Given the description of an element on the screen output the (x, y) to click on. 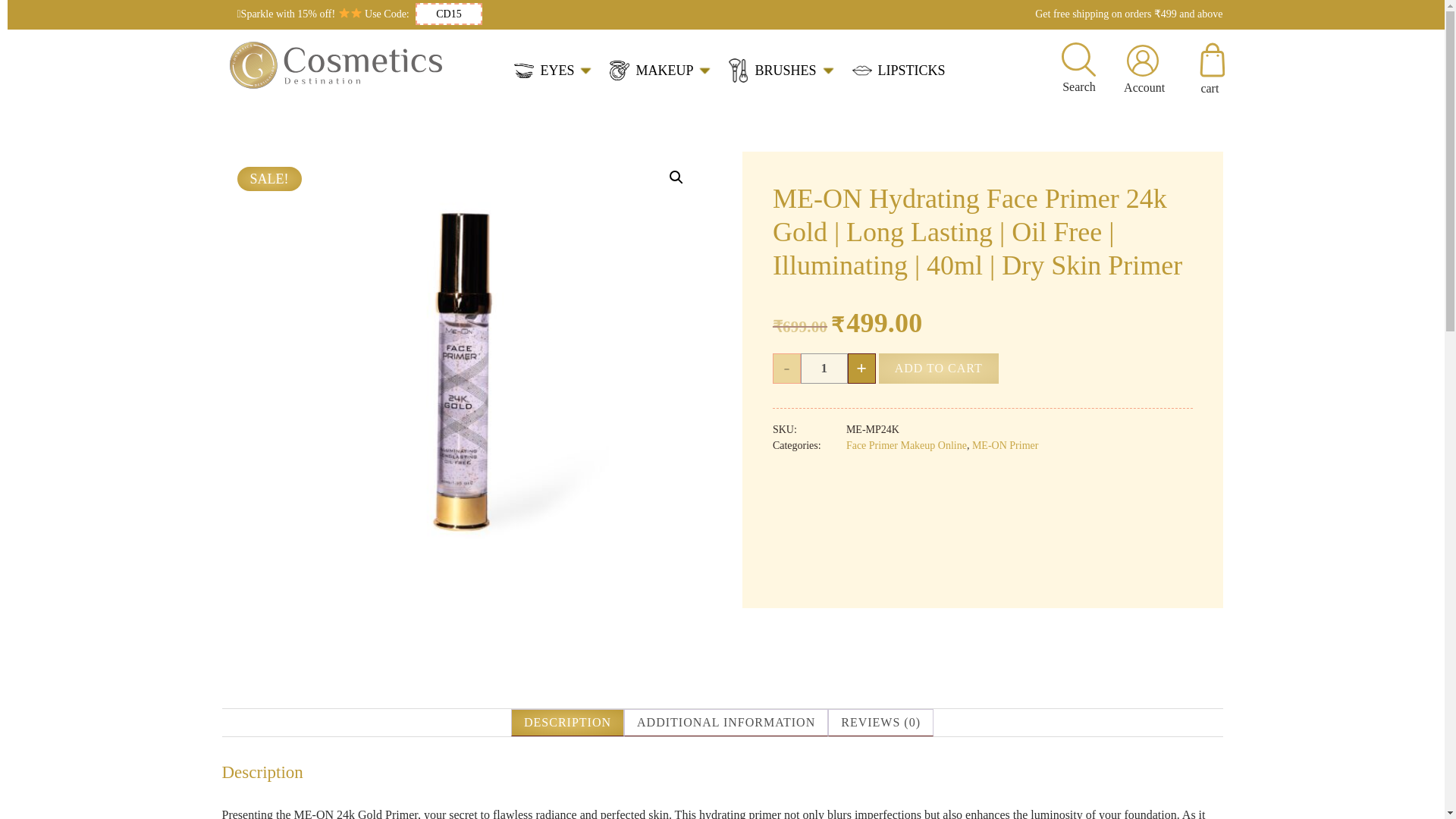
LIPSTICKS (897, 70)
- (786, 368)
1 (823, 368)
Face Primer Makeup Online (905, 445)
ADD TO CART (938, 368)
ME-ON Primer (1005, 445)
EYES (552, 70)
MAKEUP (660, 70)
BRUSHES (780, 70)
